Given the description of an element on the screen output the (x, y) to click on. 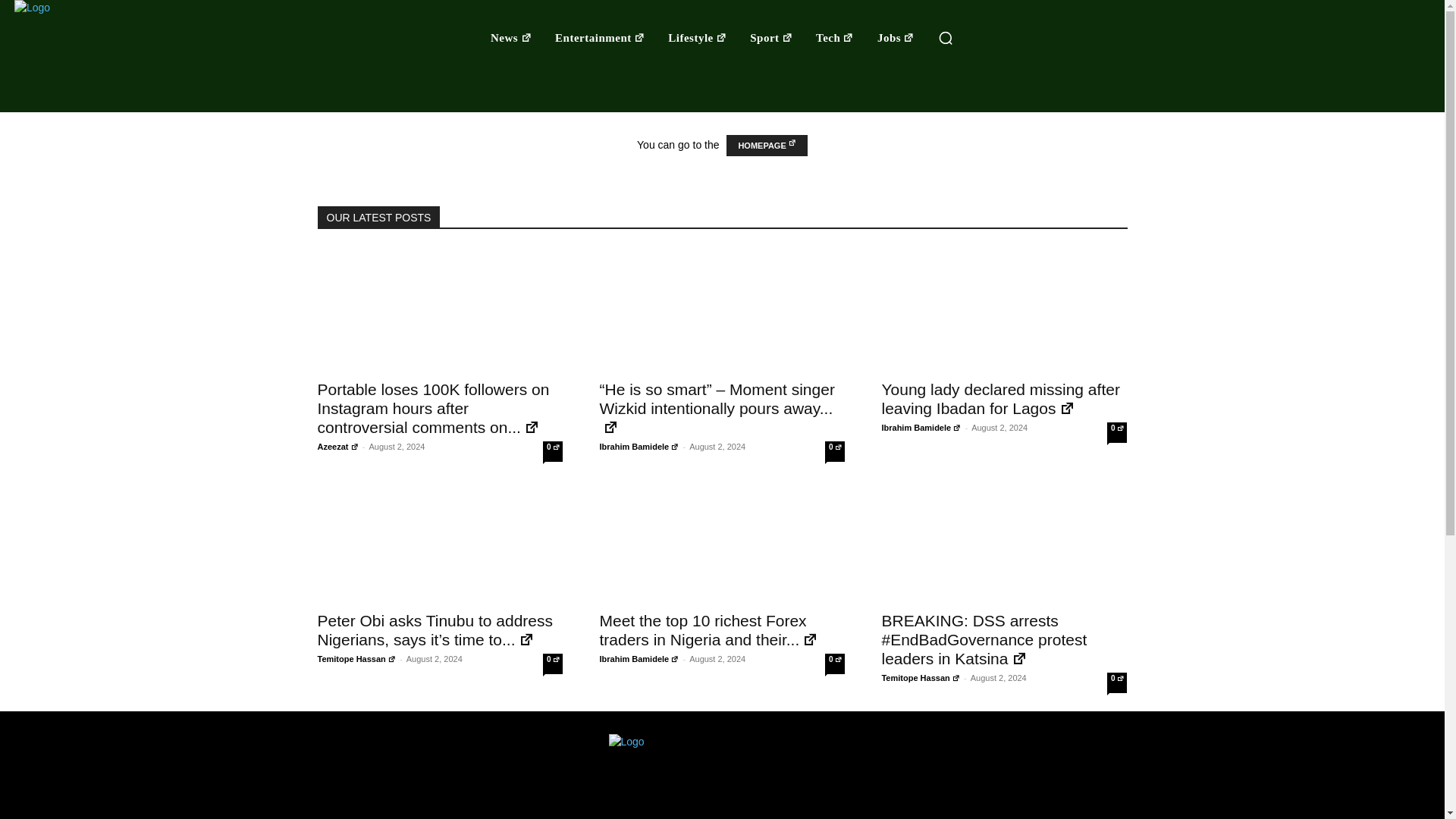
Lifestyle (698, 38)
Entertainment (599, 38)
